Given the description of an element on the screen output the (x, y) to click on. 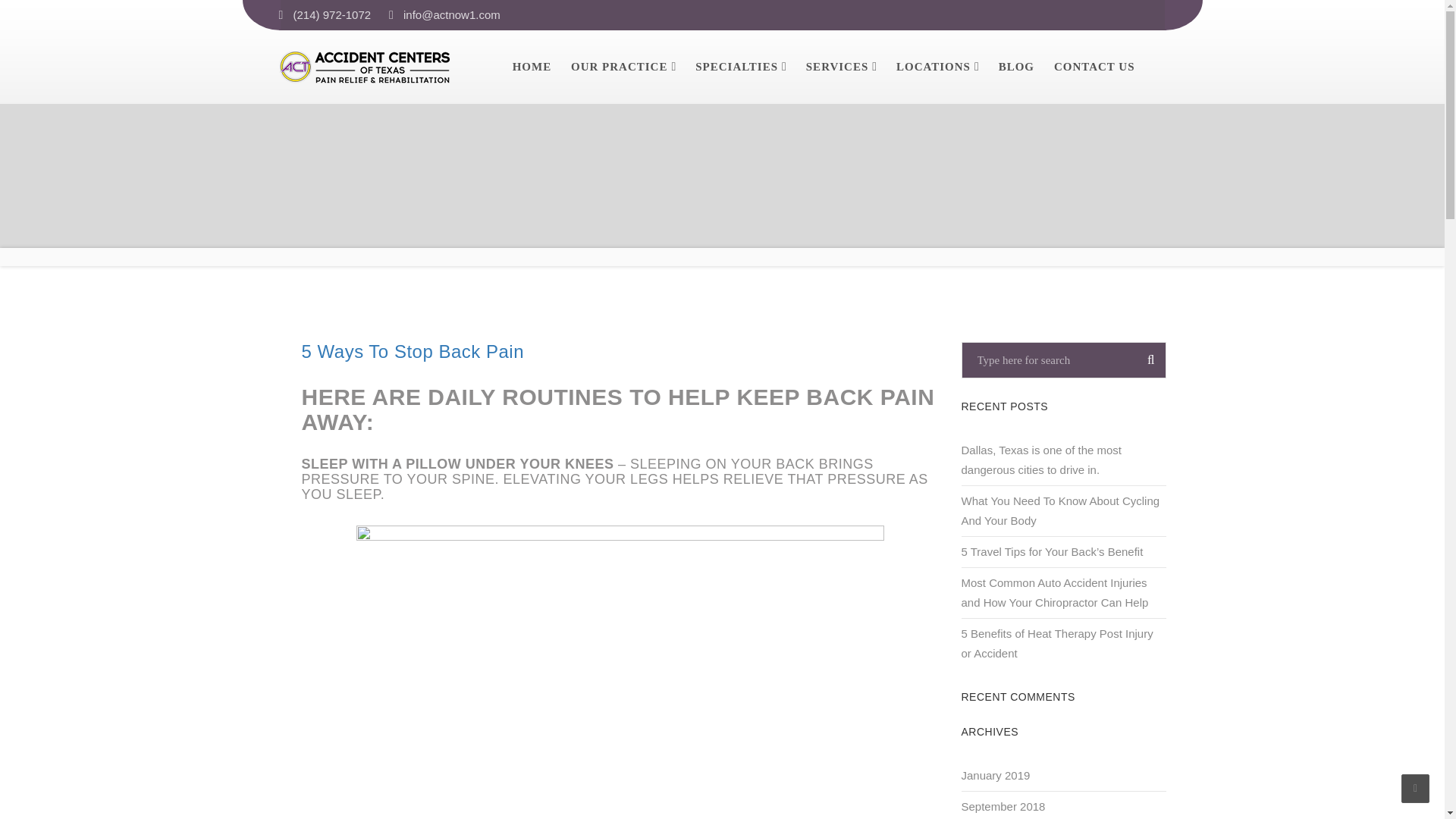
BLOG (1015, 66)
HOME (531, 66)
SPECIALTIES (736, 66)
September 2018 (1002, 805)
OUR PRACTICE (618, 66)
LOCATIONS (933, 66)
What You Need To Know About Cycling And Your Body (1063, 511)
5 Ways To Stop Back Pain (412, 351)
